Given the description of an element on the screen output the (x, y) to click on. 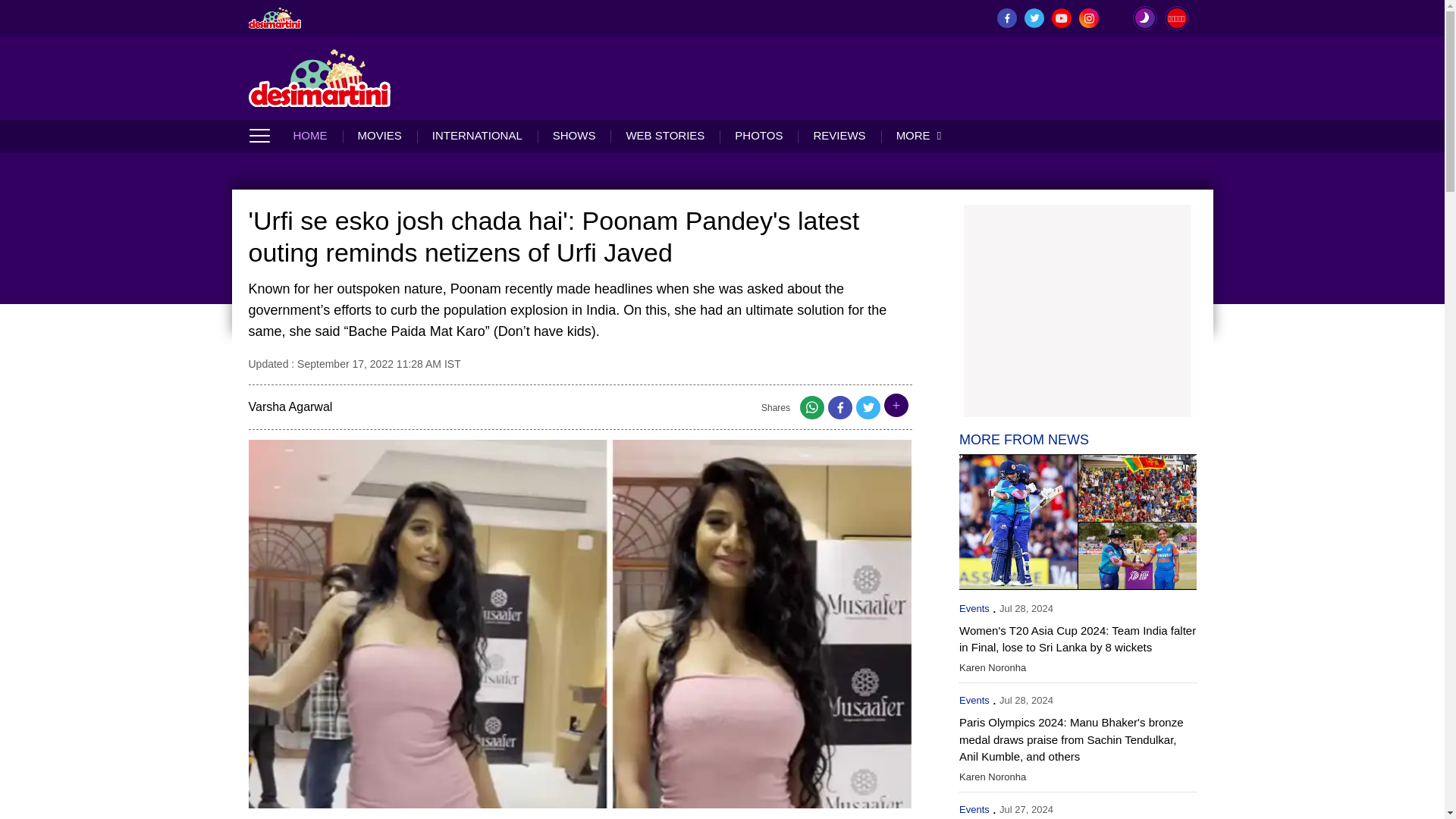
WEB STORIES (664, 135)
REVIEWS (838, 135)
HOME (317, 135)
MOVIES (379, 135)
desimartini (274, 17)
INTERNATIONAL (476, 135)
Facebook (839, 410)
PHOTOS (758, 135)
desimartini (319, 77)
SHOWS (574, 135)
